Given the description of an element on the screen output the (x, y) to click on. 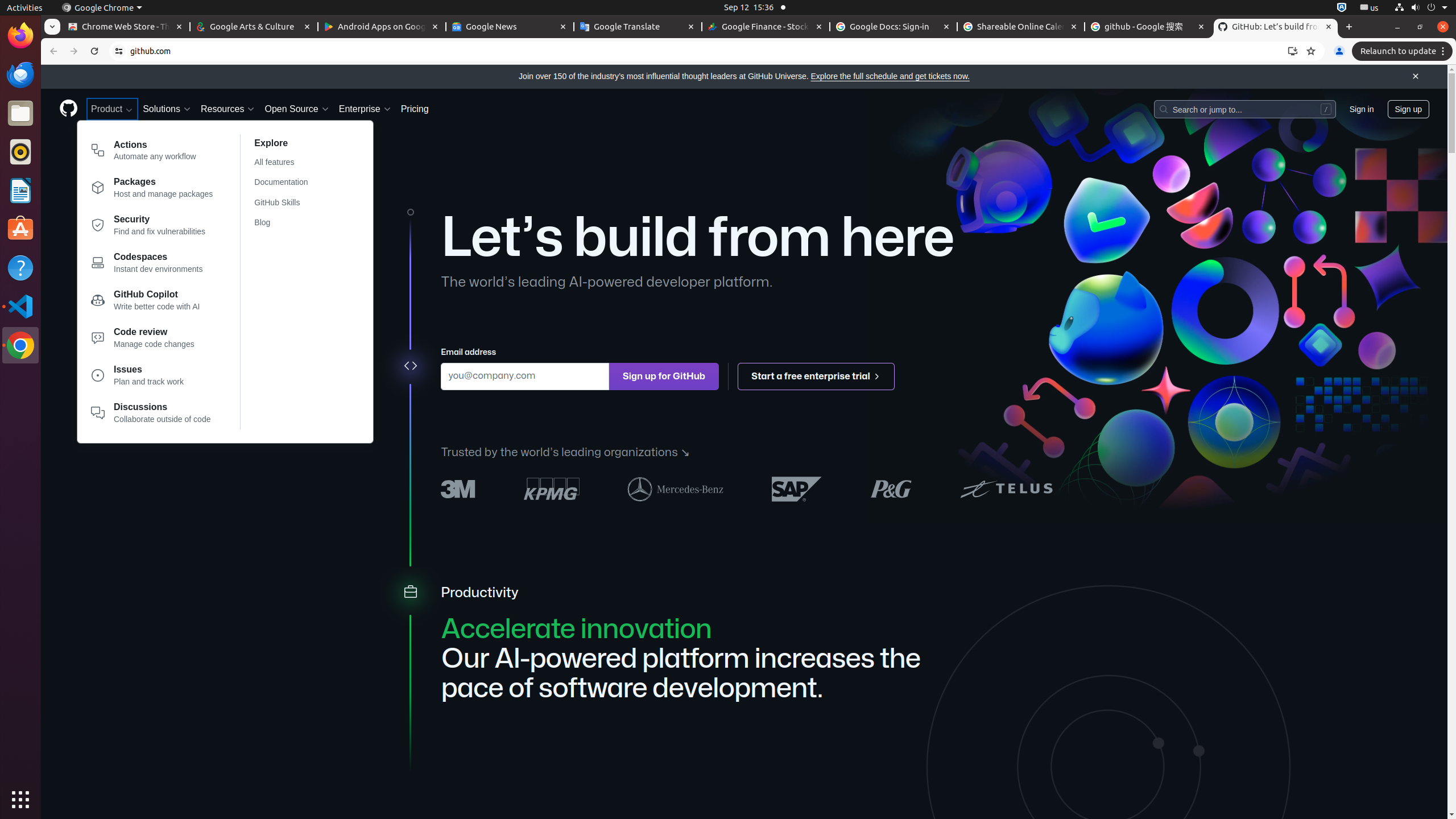
Security Find and fix vulnerabilities Element type: link (152, 227)
Ubuntu Software Element type: push-button (20, 229)
Google Docs: Sign-in - Memory usage - 31.9 MB Element type: page-tab (893, 26)
Open Source Element type: push-button (296, 108)
System Element type: menu (1420, 7)
